Given the description of an element on the screen output the (x, y) to click on. 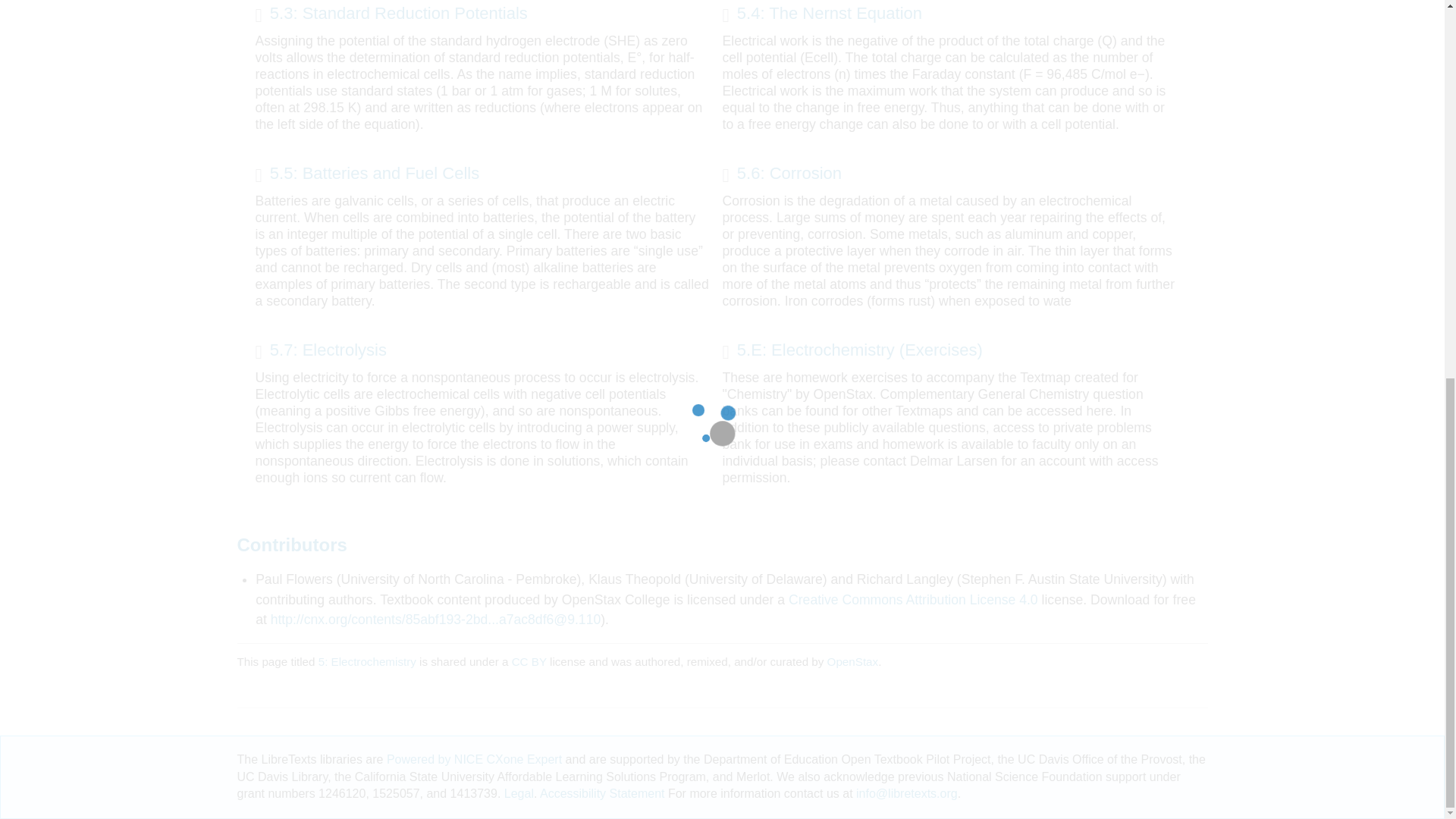
5.4: The Nernst Equation (821, 15)
5.6: Corrosion (781, 175)
5.7: Electrolysis (319, 352)
5.3: Standard Reduction Potentials (390, 15)
5.5: Batteries and Fuel Cells (366, 175)
